Given the description of an element on the screen output the (x, y) to click on. 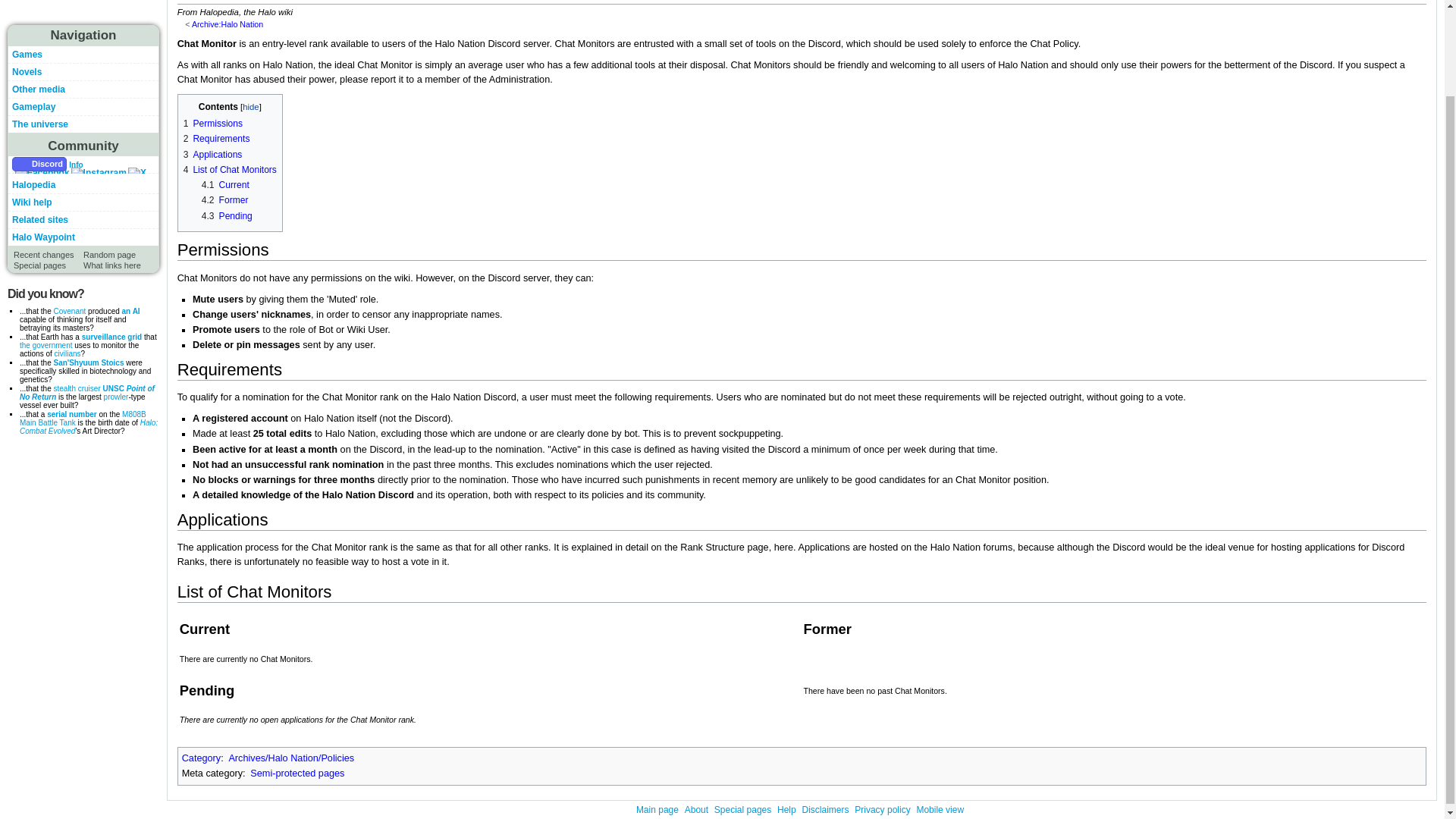
UNSC Point of No Return (87, 392)
Unified Earth Government (46, 345)
Instagram (98, 173)
Games (26, 54)
About Discord (75, 163)
Join our Discord server (38, 164)
Covenant (68, 311)
X (137, 173)
Surveillance grid (111, 336)
Visit the main page (82, 16)
